Given the description of an element on the screen output the (x, y) to click on. 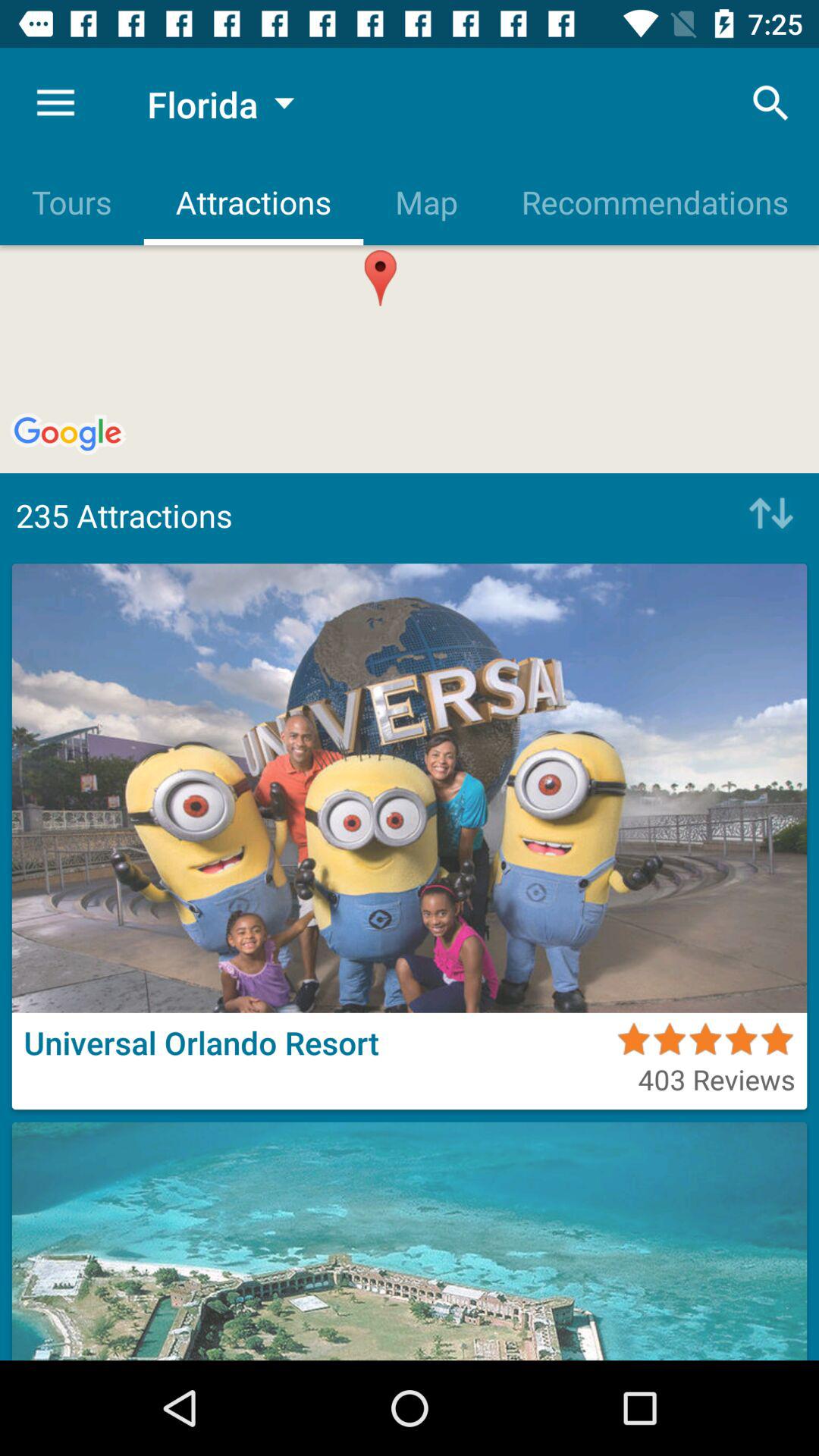
tap the item on the right (767, 515)
